Given the description of an element on the screen output the (x, y) to click on. 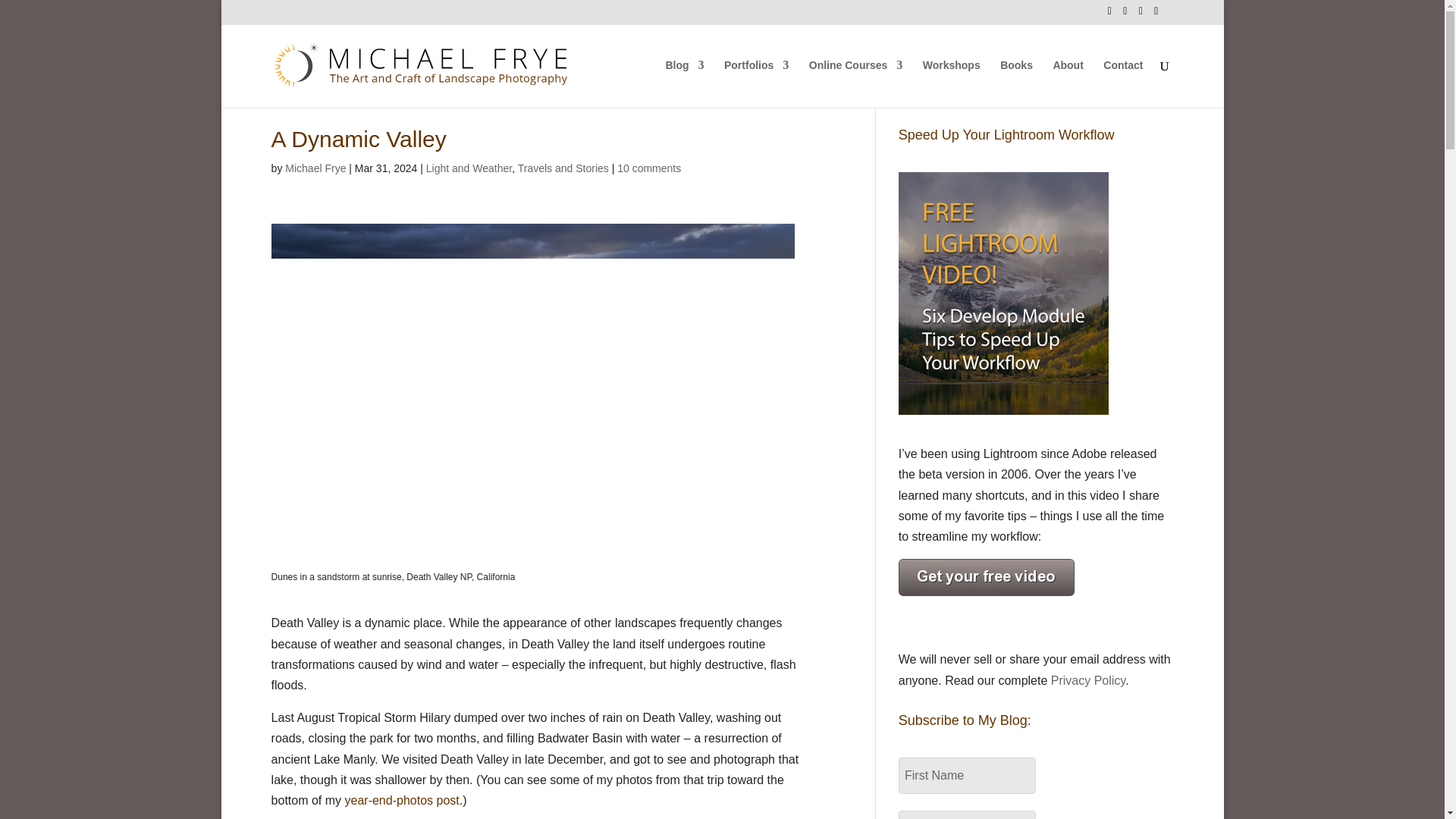
year-end-photos post (402, 799)
Online Courses (855, 83)
Travels and Stories (563, 168)
Michael Frye (315, 168)
10 comments (649, 168)
Posts by Michael Frye (315, 168)
Portfolios (756, 83)
Workshops (951, 83)
Light and Weather (469, 168)
